Given the description of an element on the screen output the (x, y) to click on. 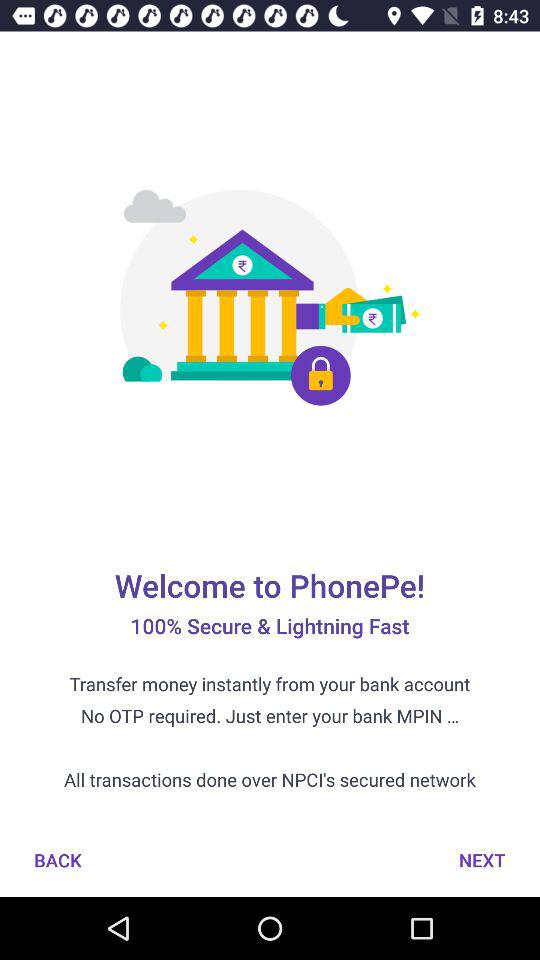
select back item (57, 859)
